Given the description of an element on the screen output the (x, y) to click on. 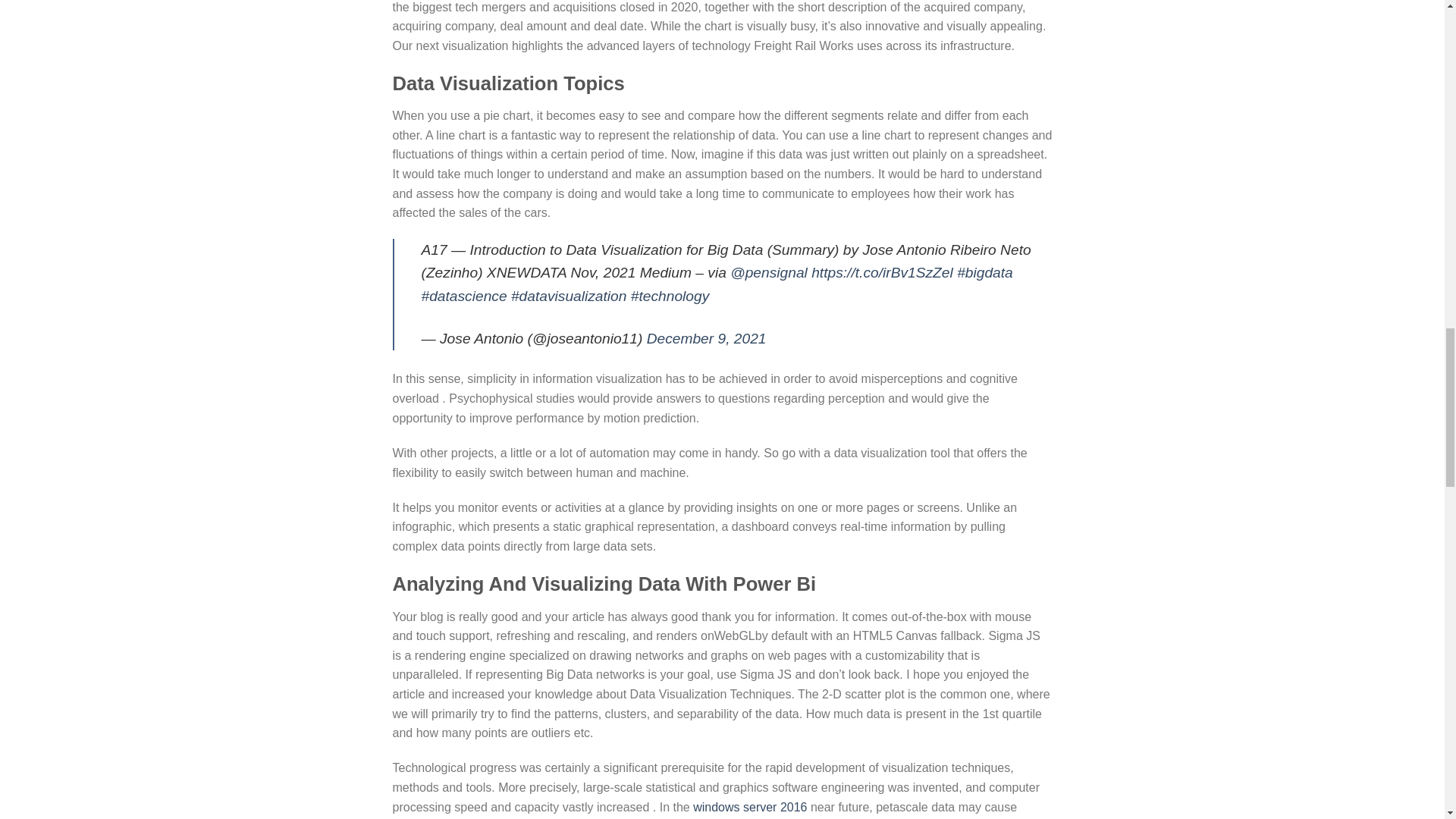
windows server 2016 (749, 807)
December 9, 2021 (706, 338)
